Given the description of an element on the screen output the (x, y) to click on. 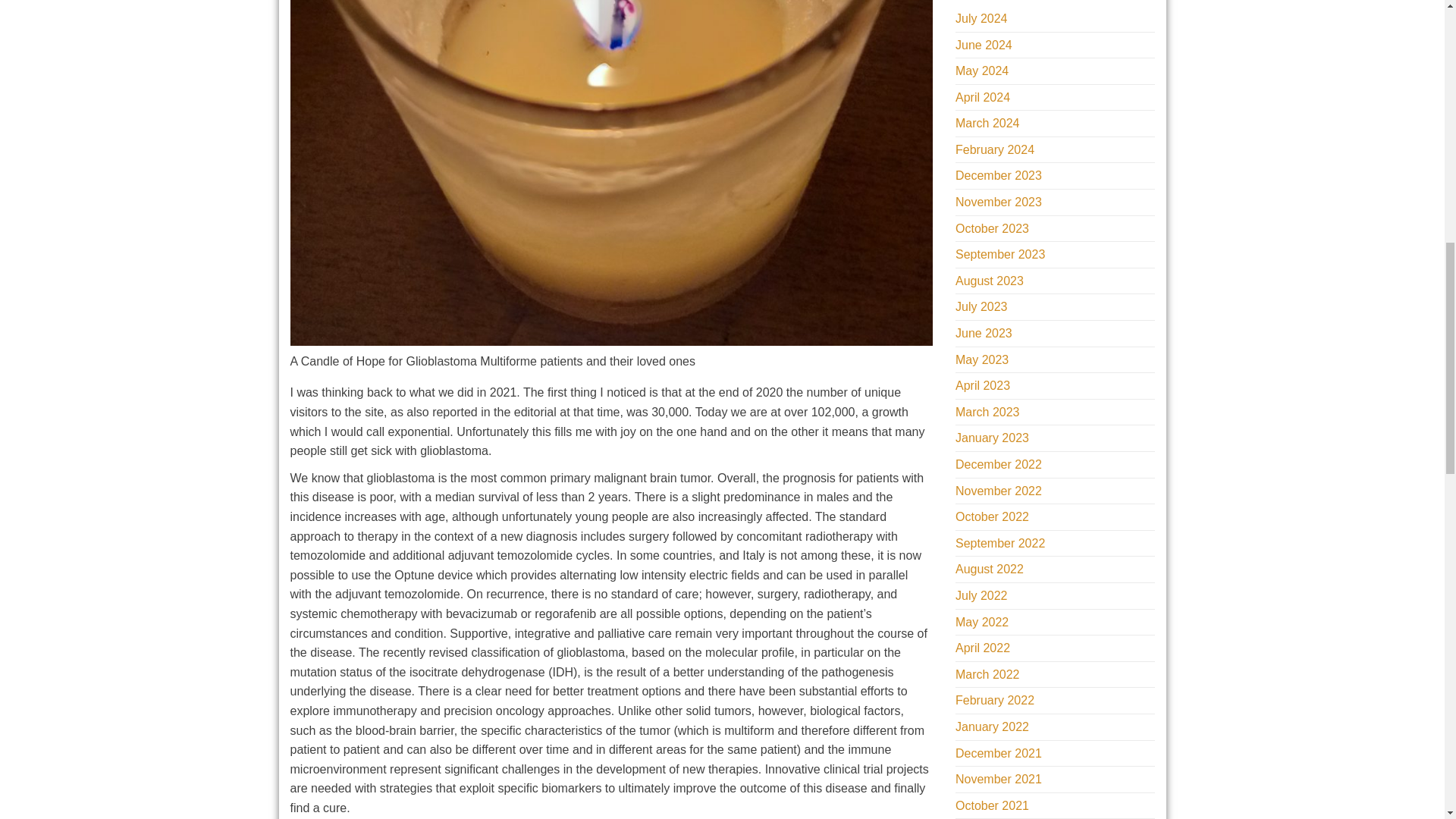
September 2023 (1000, 254)
July 2023 (981, 306)
June 2023 (983, 332)
June 2024 (983, 43)
May 2023 (982, 359)
December 2023 (998, 174)
February 2024 (994, 149)
October 2023 (992, 228)
April 2024 (982, 97)
July 2024 (981, 18)
